Given the description of an element on the screen output the (x, y) to click on. 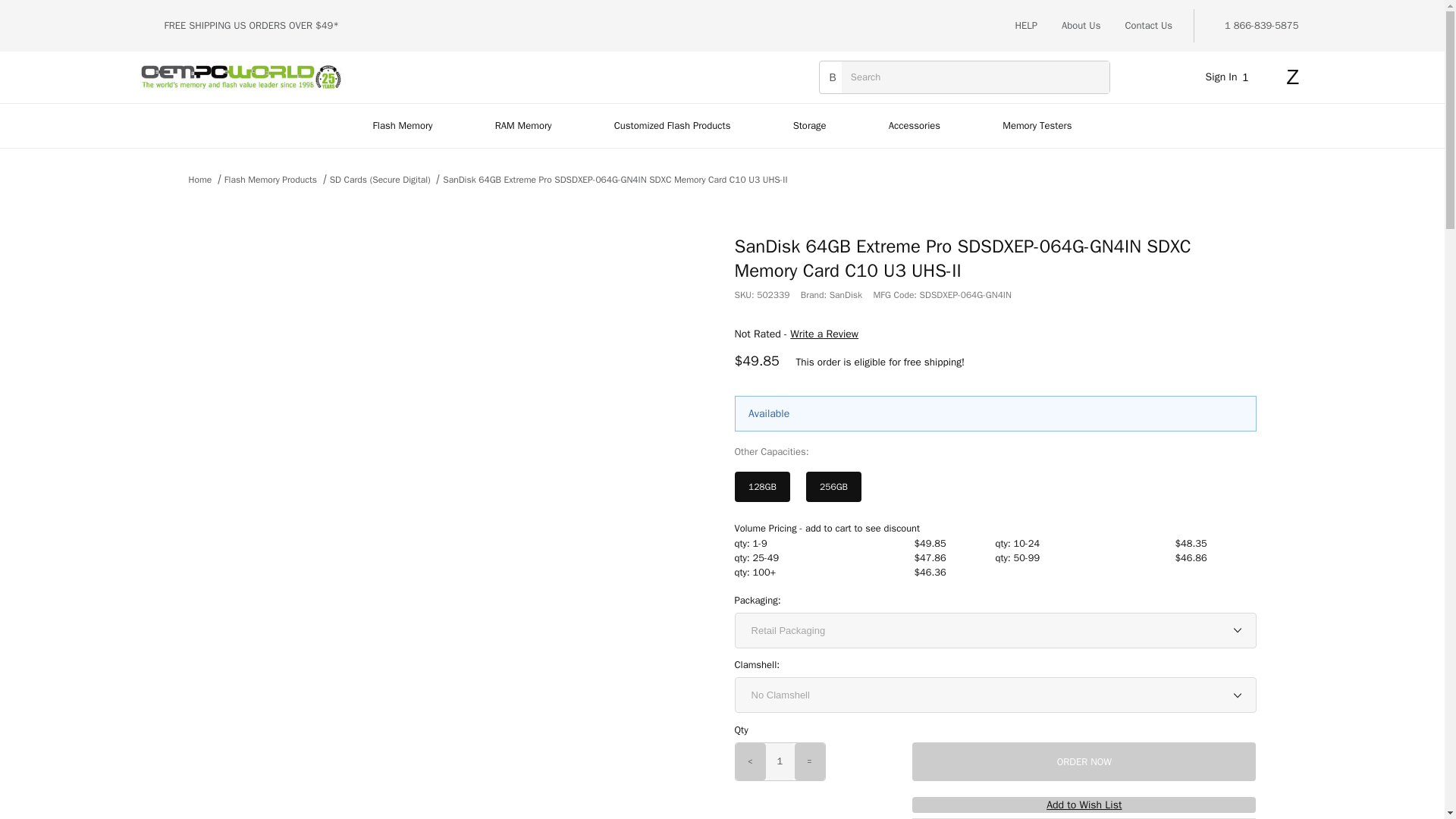
About Us (1080, 25)
Sign In (1218, 267)
Shipping Policies (285, 24)
Clamshell: (755, 664)
ORDER NOW (1083, 761)
Contact Us (1148, 25)
Packaging: (756, 600)
Sign In (1229, 76)
Add to Wish List (1083, 804)
